Given the description of an element on the screen output the (x, y) to click on. 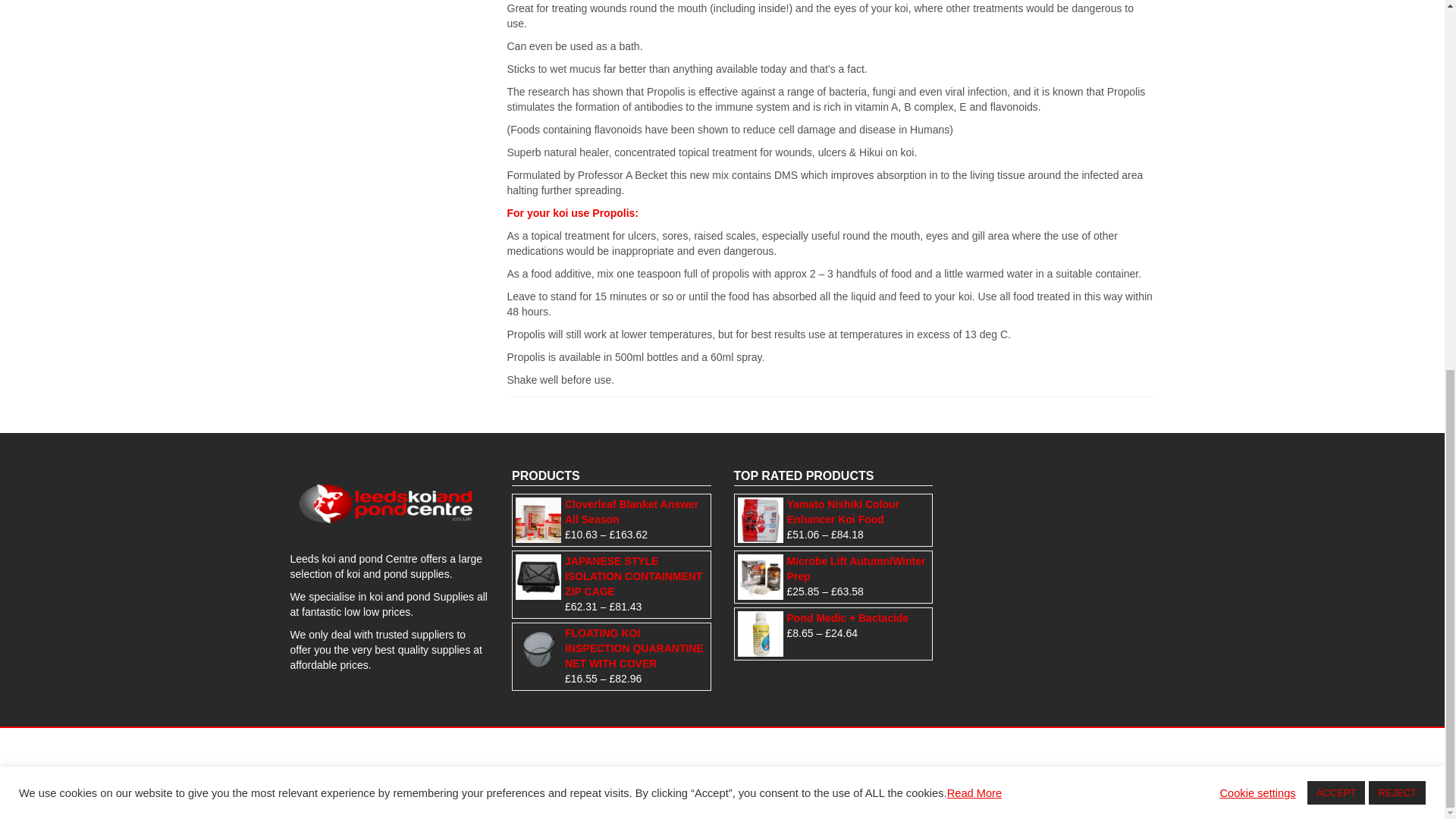
REJECT (1396, 120)
Read More (975, 121)
JAPANESE STYLE ISOLATION CONTAINMENT ZIP CAGE (611, 576)
ACCEPT (1336, 120)
FLOATING KOI INSPECTION QUARANTINE NET WITH COVER (611, 648)
Cookie settings (1257, 120)
Cloverleaf Blanket Answer All Season (611, 512)
Yamato Nishiki Colour Enhancer Koi Food (832, 512)
